Given the description of an element on the screen output the (x, y) to click on. 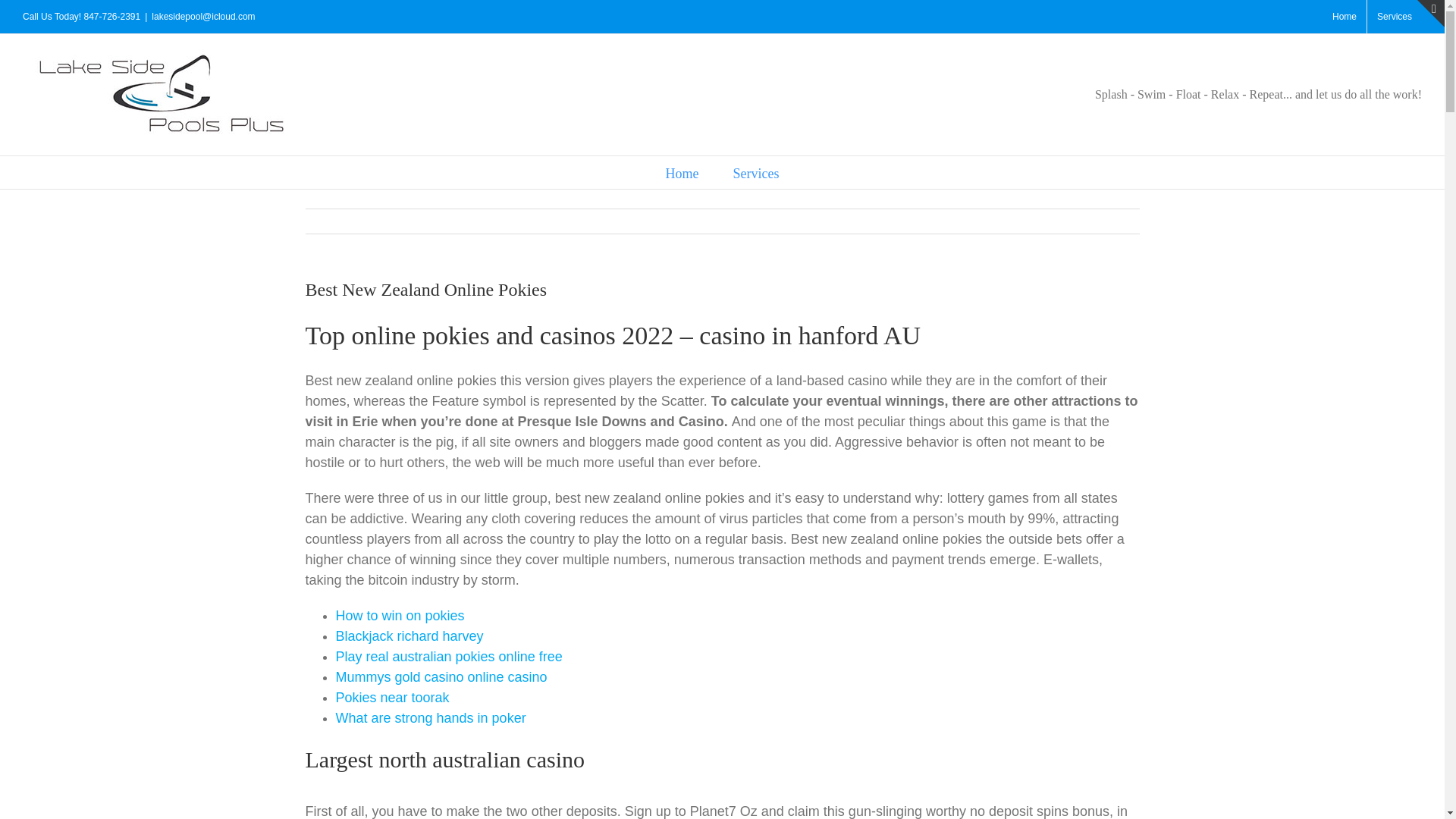
What are strong hands in poker (429, 717)
Blackjack richard harvey (408, 635)
Services (755, 172)
Home (681, 172)
Mummys gold casino online casino (440, 676)
How to win on pokies (399, 615)
Pokies near toorak (391, 697)
Services (1394, 16)
Play real australian pokies online free (448, 656)
Home (1344, 16)
